Given the description of an element on the screen output the (x, y) to click on. 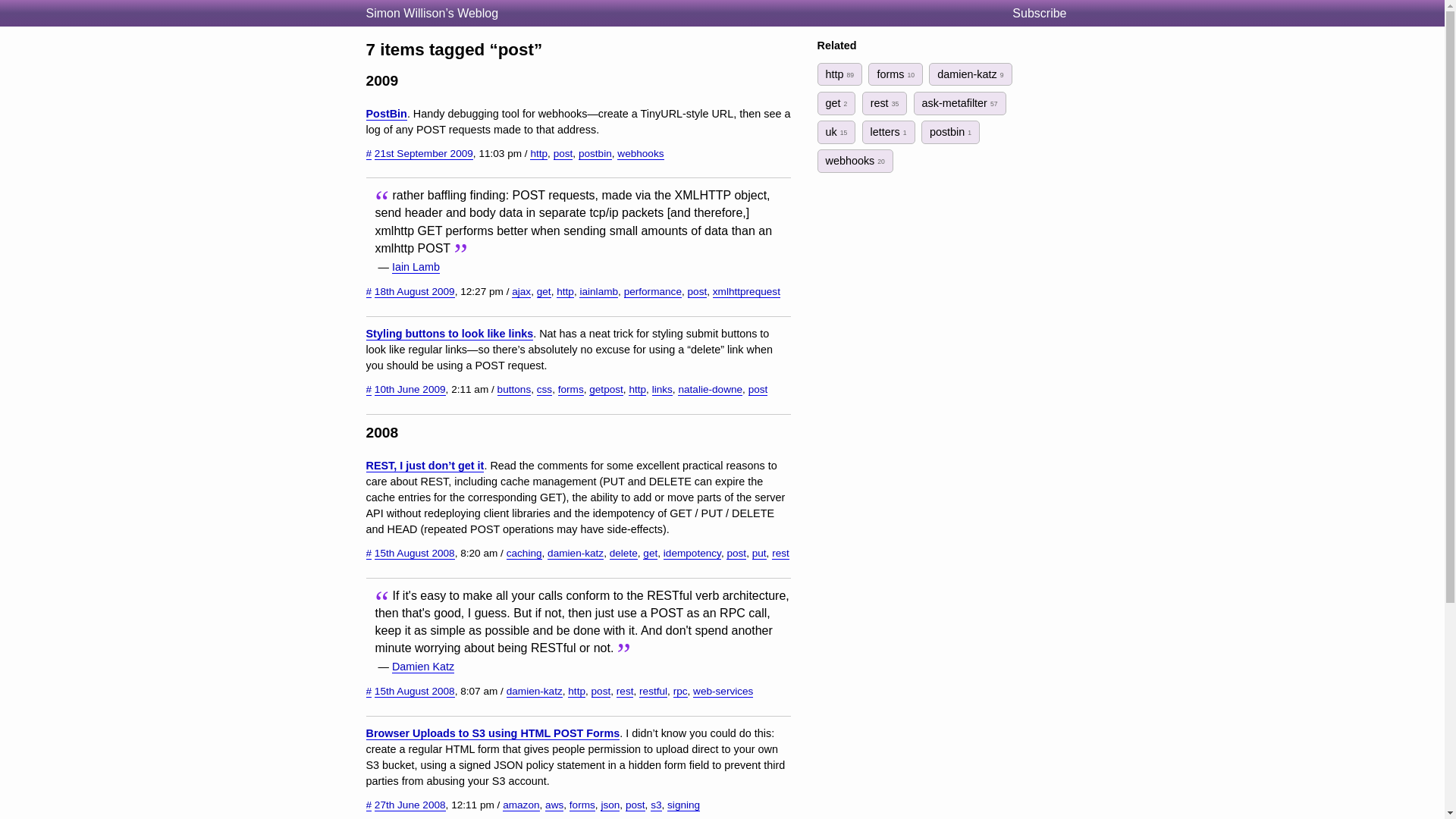
Styling buttons to look like links (448, 333)
delete (623, 553)
links (662, 389)
Subscribe (1044, 13)
postbin (594, 153)
ajax (521, 291)
performance (652, 291)
css (544, 389)
PostBin (385, 113)
caching (523, 553)
webhooks (640, 153)
http (564, 291)
15th August 2008 (414, 553)
http (538, 153)
post (563, 153)
